Given the description of an element on the screen output the (x, y) to click on. 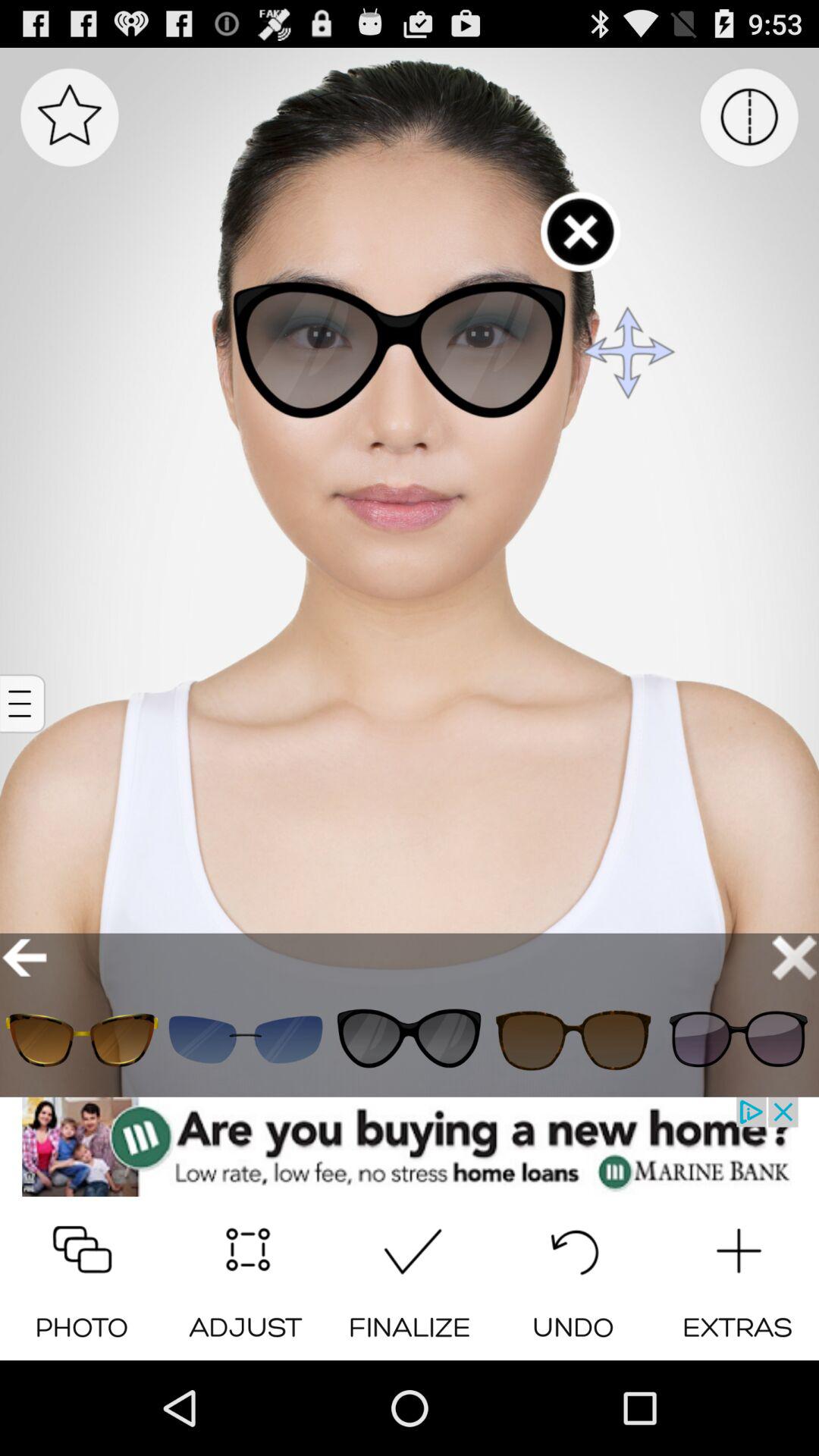
fashion page (737, 1039)
